Given the description of an element on the screen output the (x, y) to click on. 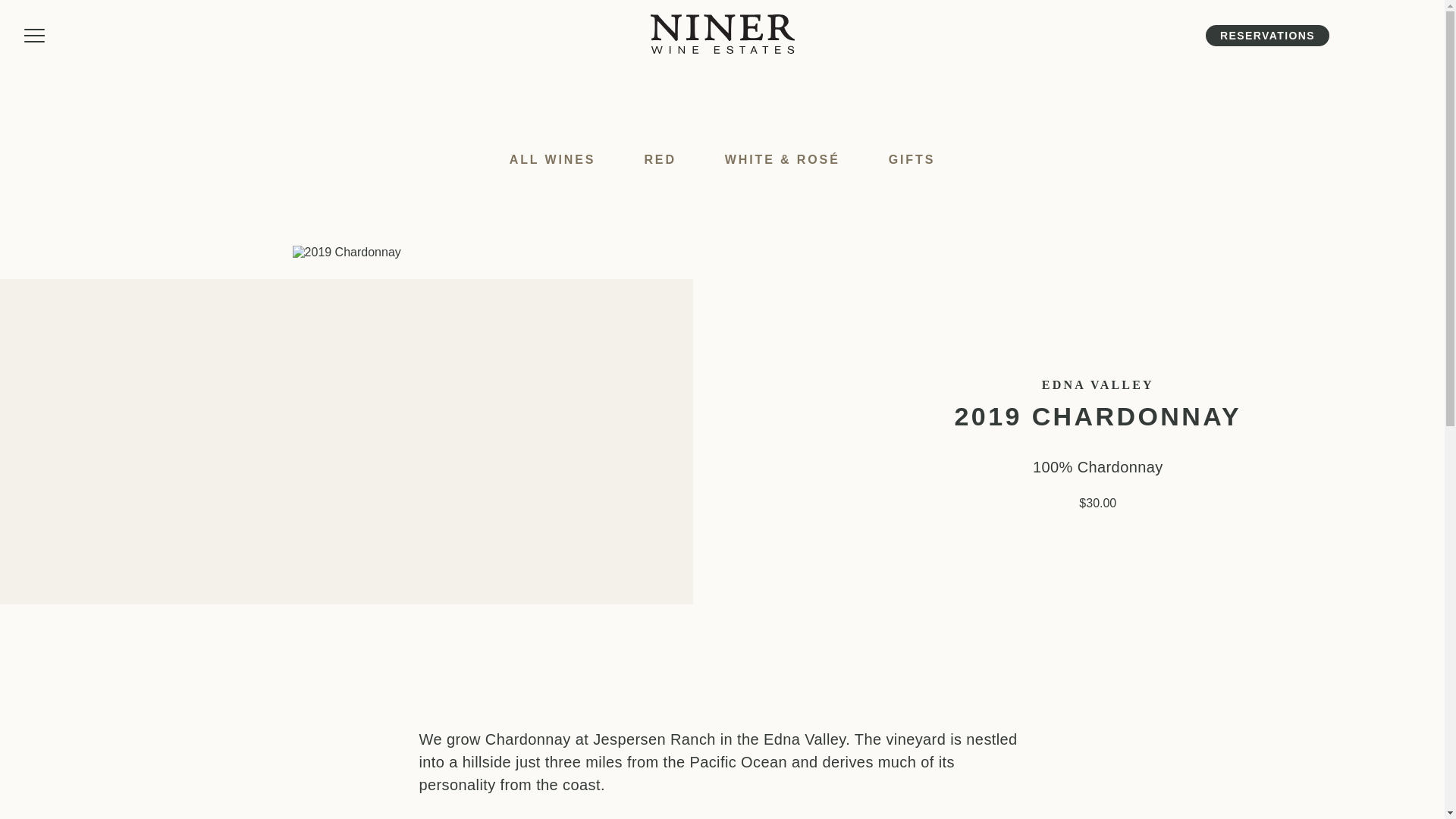
GIFTS (911, 159)
Menu (34, 35)
ALL WINES (553, 159)
RESERVATIONS (1267, 35)
RED (660, 159)
